Given the description of an element on the screen output the (x, y) to click on. 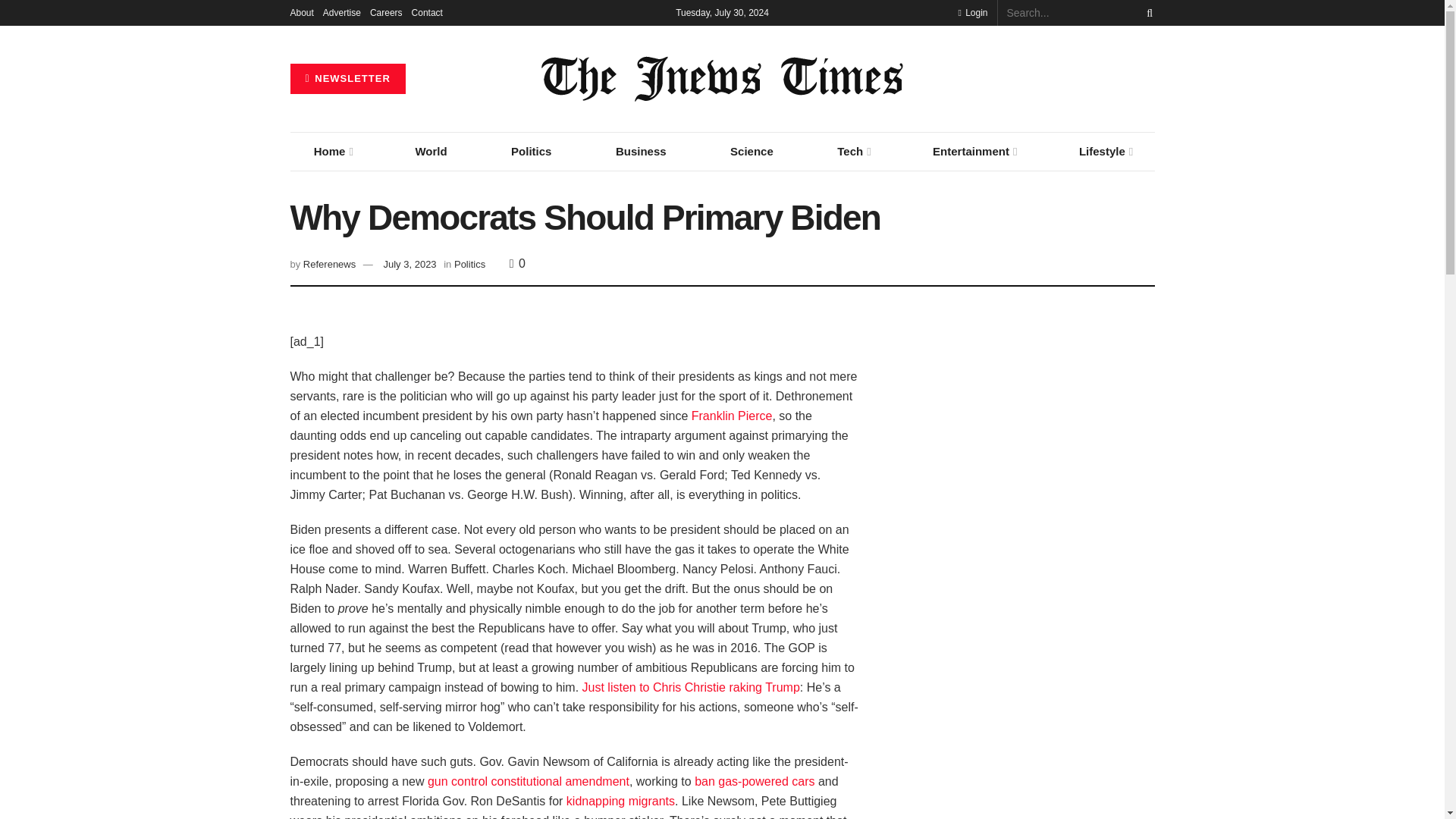
About (301, 12)
NEWSLETTER (346, 78)
Business (641, 151)
Login (972, 12)
Contact (427, 12)
Science (751, 151)
Politics (531, 151)
Entertainment (973, 151)
Tech (852, 151)
Careers (386, 12)
Advertise (342, 12)
World (430, 151)
Home (331, 151)
